Given the description of an element on the screen output the (x, y) to click on. 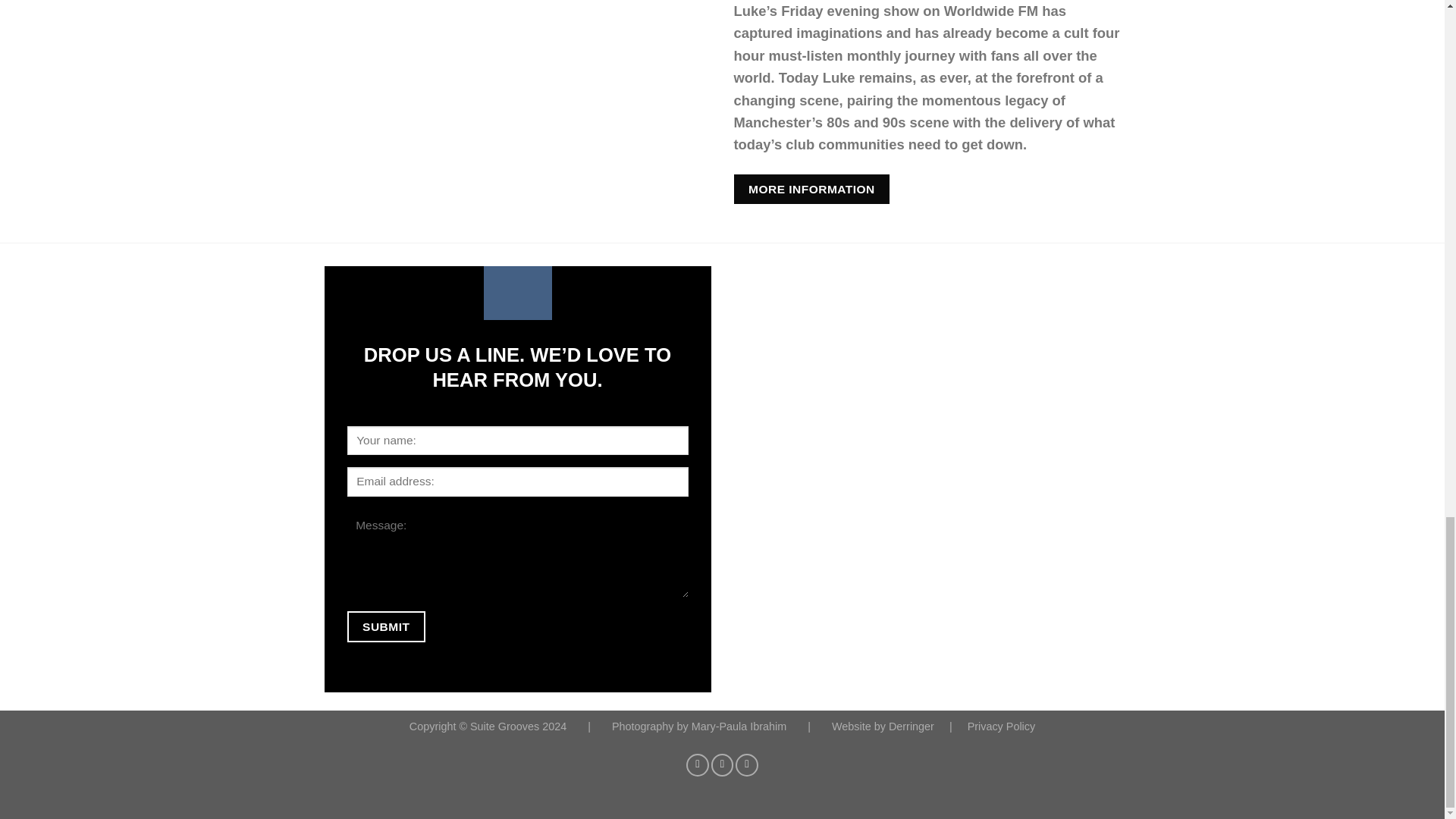
Privacy Policy (1001, 726)
Photography by Mary-Paula Ibrahim (700, 726)
MORE INFORMATION (811, 188)
Submit (386, 626)
Submit (386, 626)
Website by Derringer (884, 726)
